Given the description of an element on the screen output the (x, y) to click on. 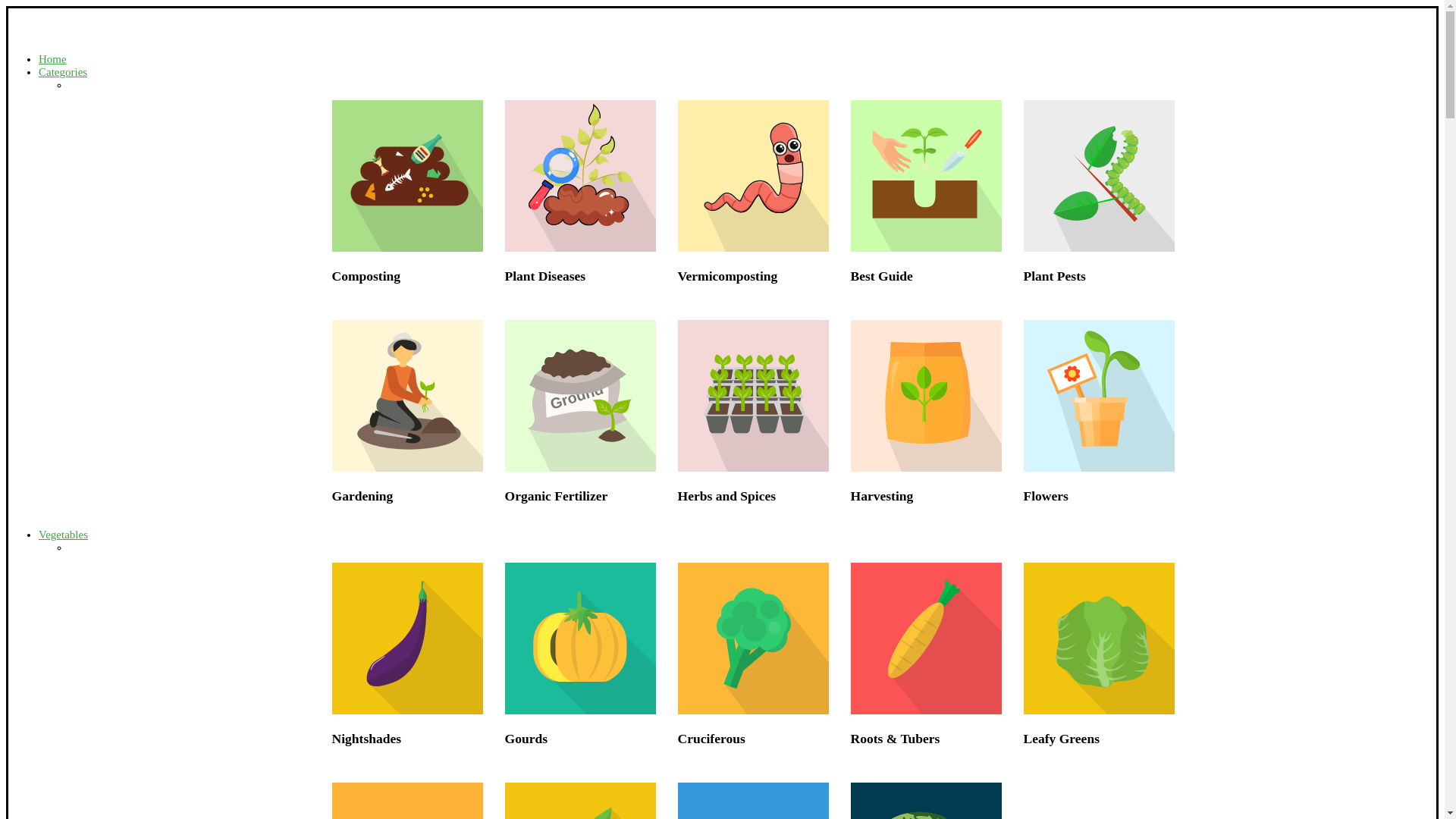
Home (52, 59)
Vegetables (63, 534)
Categories (63, 71)
